Given the description of an element on the screen output the (x, y) to click on. 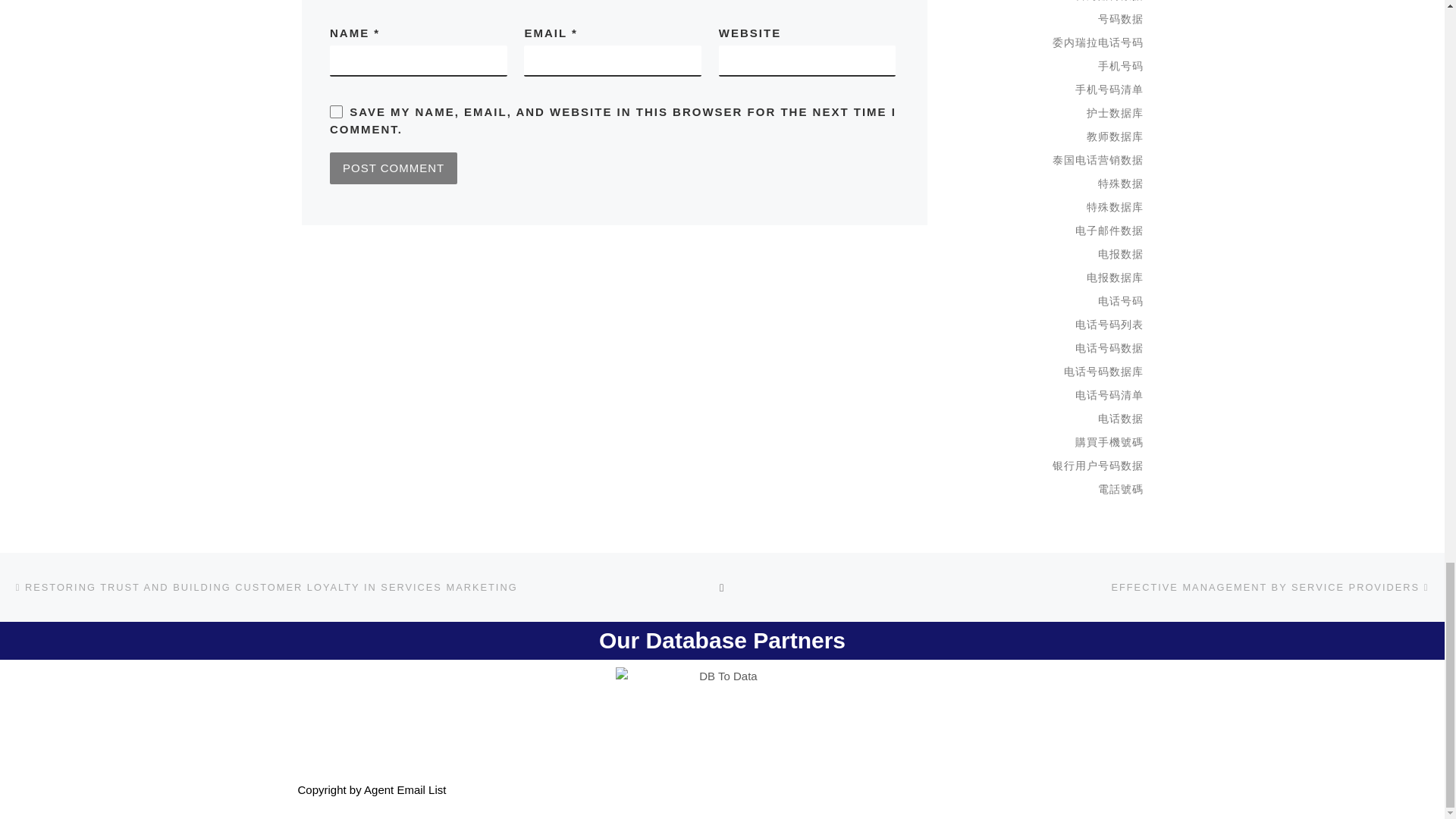
yes (336, 111)
Post Comment (393, 168)
